Given the description of an element on the screen output the (x, y) to click on. 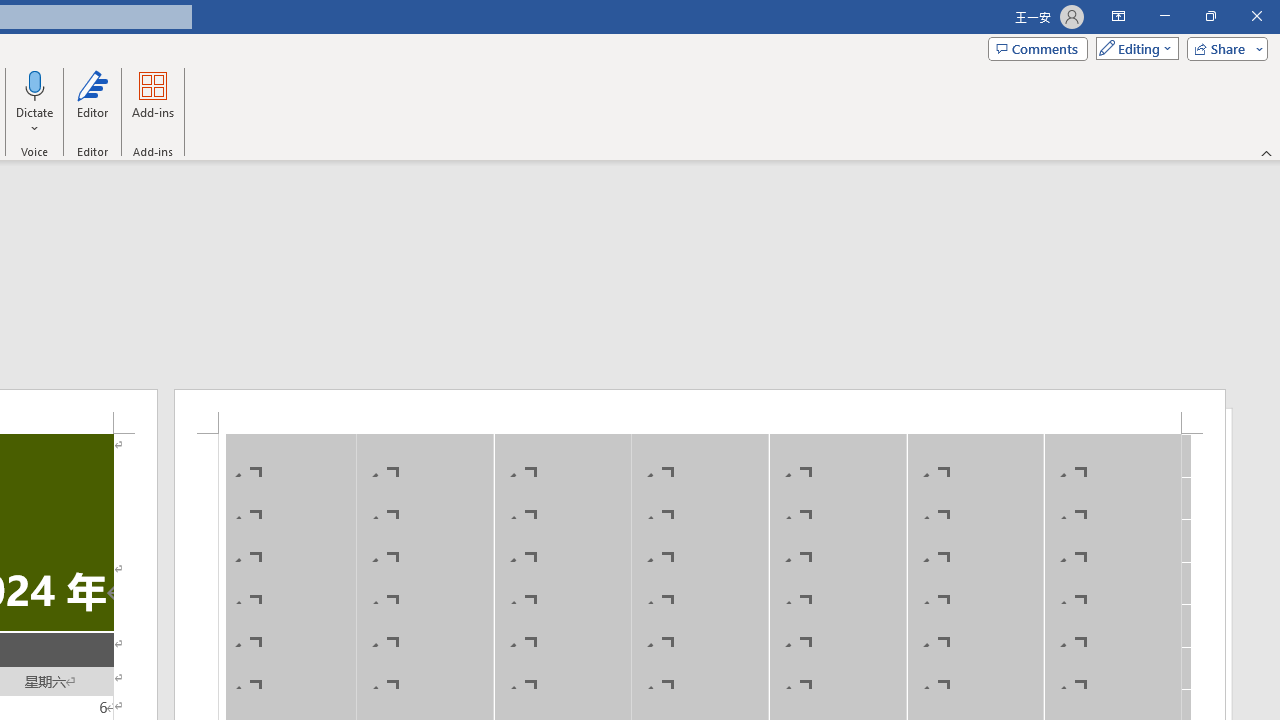
Mode (1133, 47)
Header -Section 1- (700, 411)
